Given the description of an element on the screen output the (x, y) to click on. 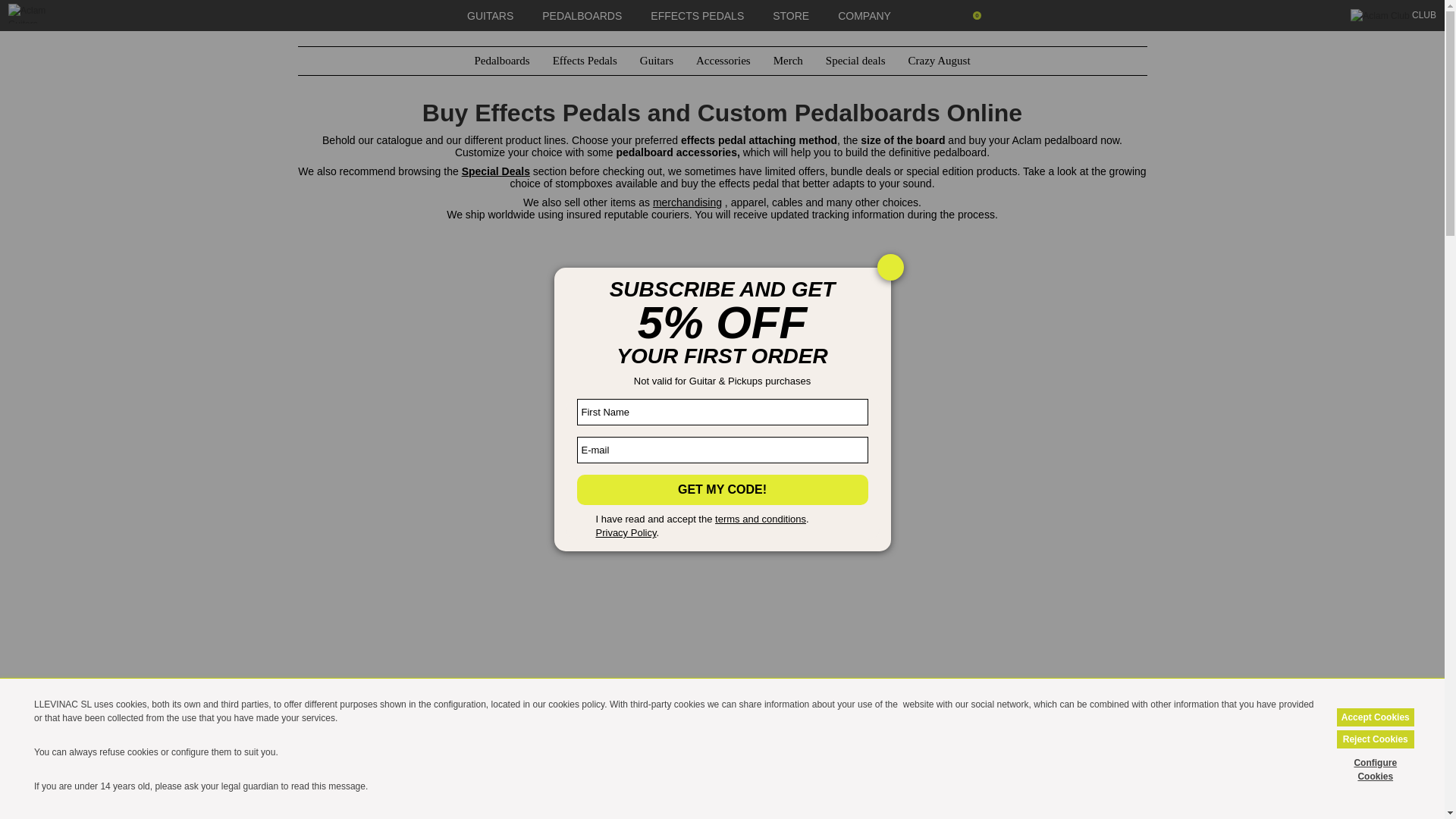
Accept Cookies (1374, 717)
Reject Cookies (1374, 738)
EFFECTS PEDALS (697, 15)
Close window (889, 266)
Configure Cookies (1374, 769)
STORE (791, 15)
GET MY CODE! (721, 488)
terms and conditions (760, 518)
Privacy Policy (625, 532)
Aclam Guitars (41, 13)
